Given the description of an element on the screen output the (x, y) to click on. 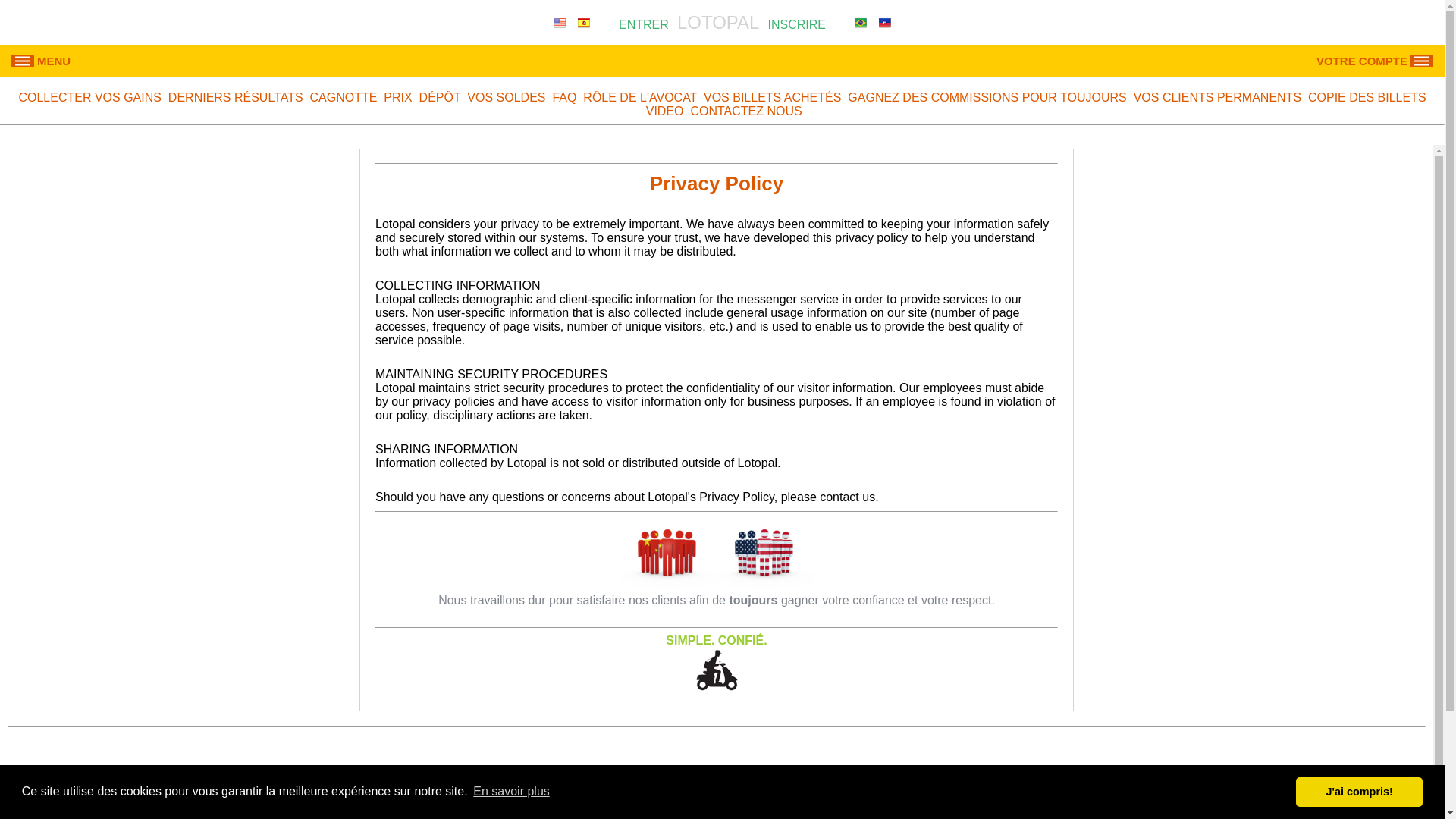
COLLECTER VOS GAINS (89, 97)
INSCRIRE (798, 23)
J'ai compris! (1358, 791)
CAGNOTTE (343, 97)
En savoir plus (510, 791)
PRIX (398, 97)
FAQ (563, 97)
Our Cookie Policy (972, 803)
Our Privacy Policy (1083, 803)
VOS SOLDES (505, 97)
Change the language to ENGLISH. (559, 22)
ENTRER (641, 23)
